Given the description of an element on the screen output the (x, y) to click on. 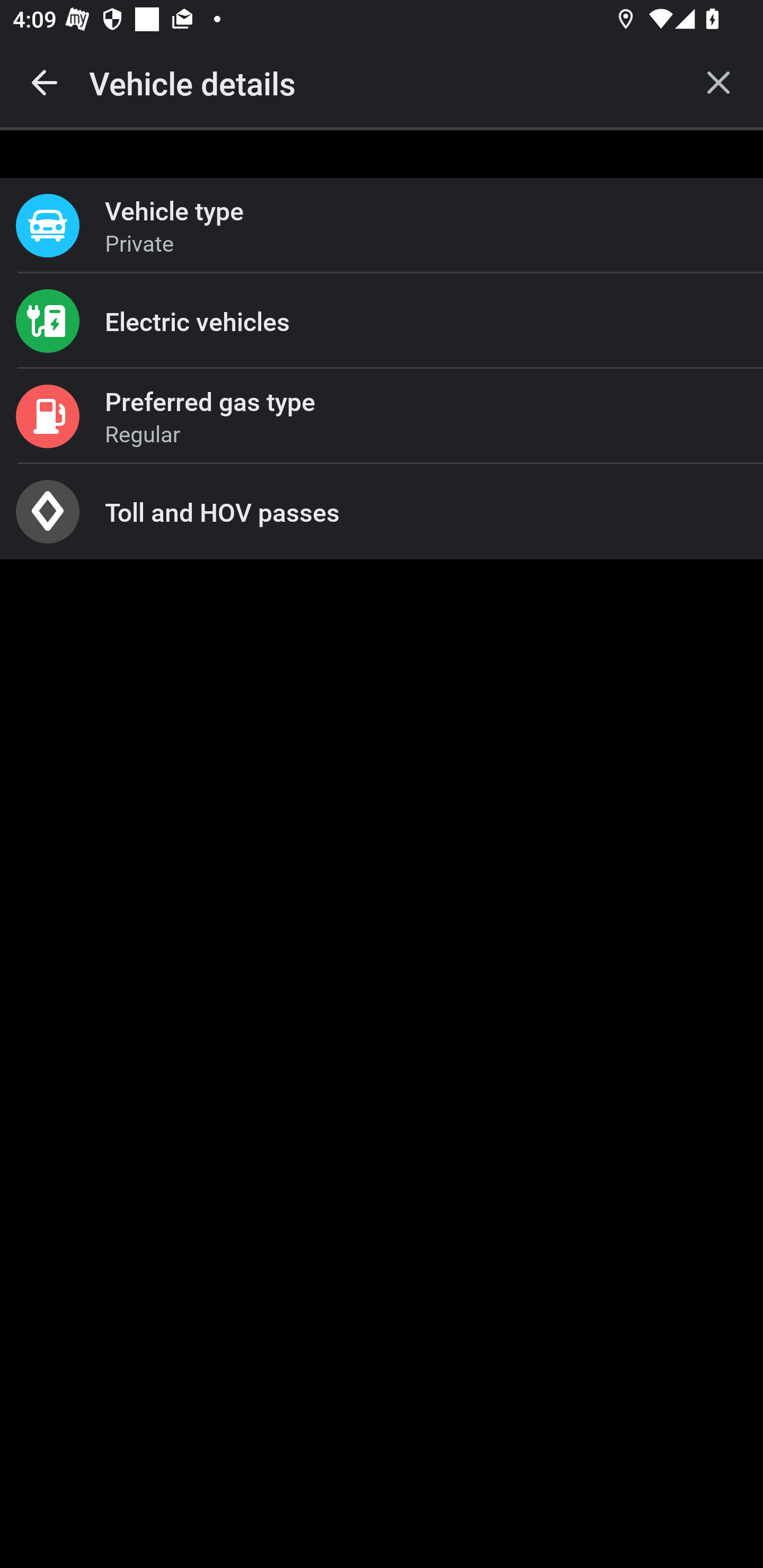
Vehicle type Private (381, 225)
Electric vehicles (381, 320)
Preferred gas type Regular (381, 416)
Toll and HOV passes (381, 511)
